Given the description of an element on the screen output the (x, y) to click on. 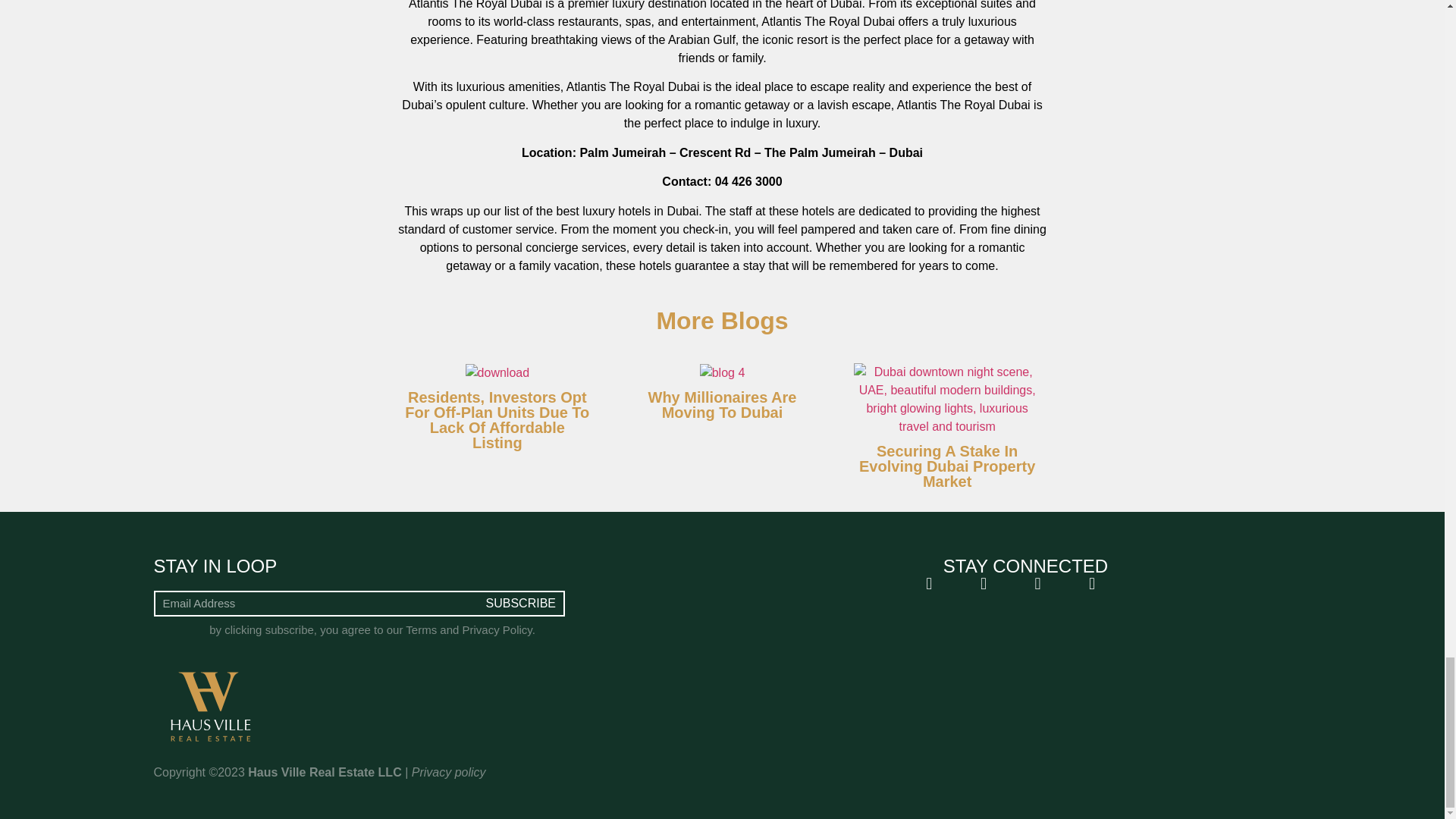
Why Millionaires Are Moving To Dubai (721, 404)
SUBSCRIBE (521, 603)
Securing A Stake In Evolving Dubai Property Market (947, 466)
Privacy policy (449, 771)
Dubai downtown night scene (947, 399)
download (497, 372)
blog 4 (722, 372)
